Given the description of an element on the screen output the (x, y) to click on. 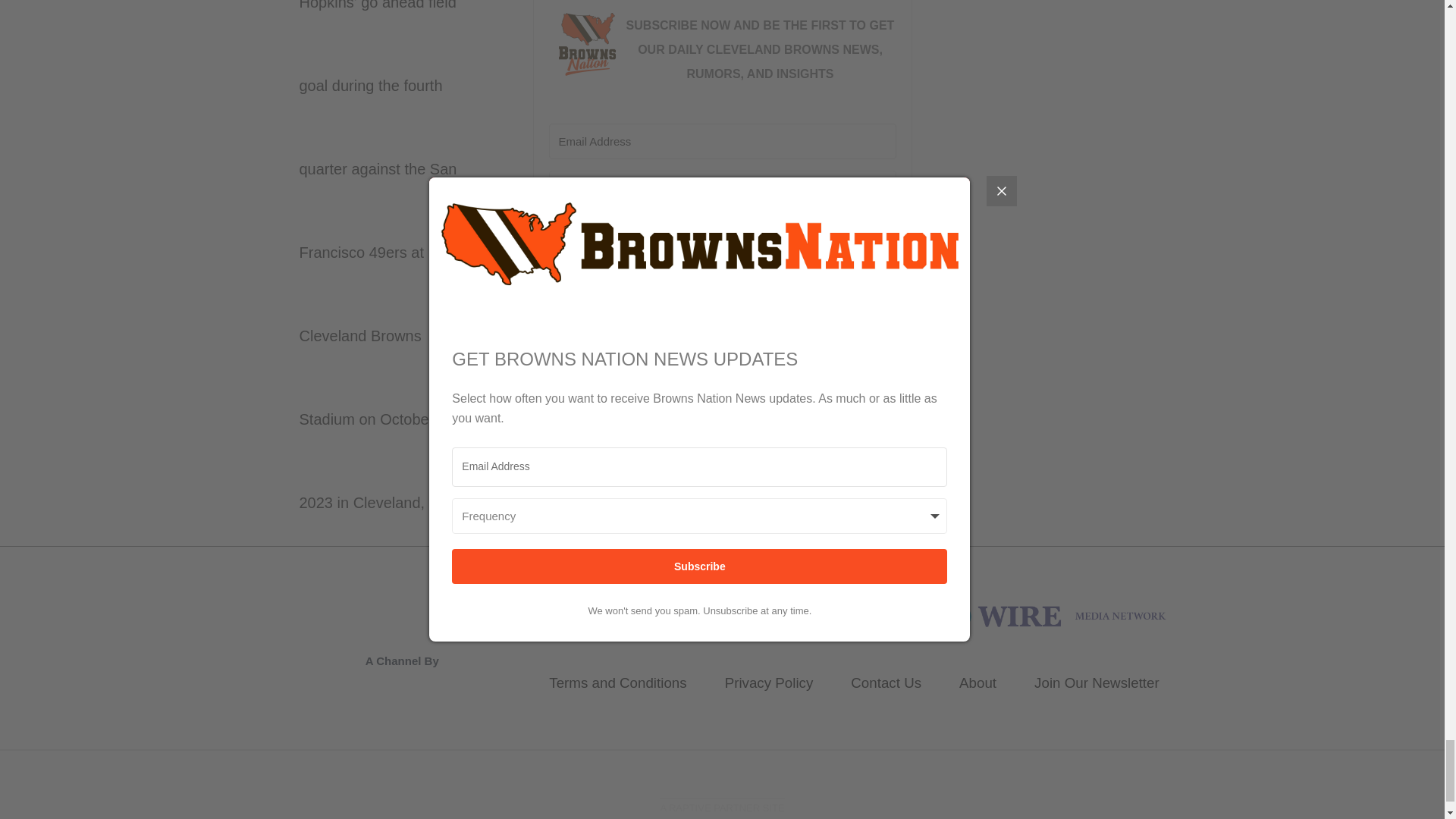
Browns Nation (1022, 614)
